Given the description of an element on the screen output the (x, y) to click on. 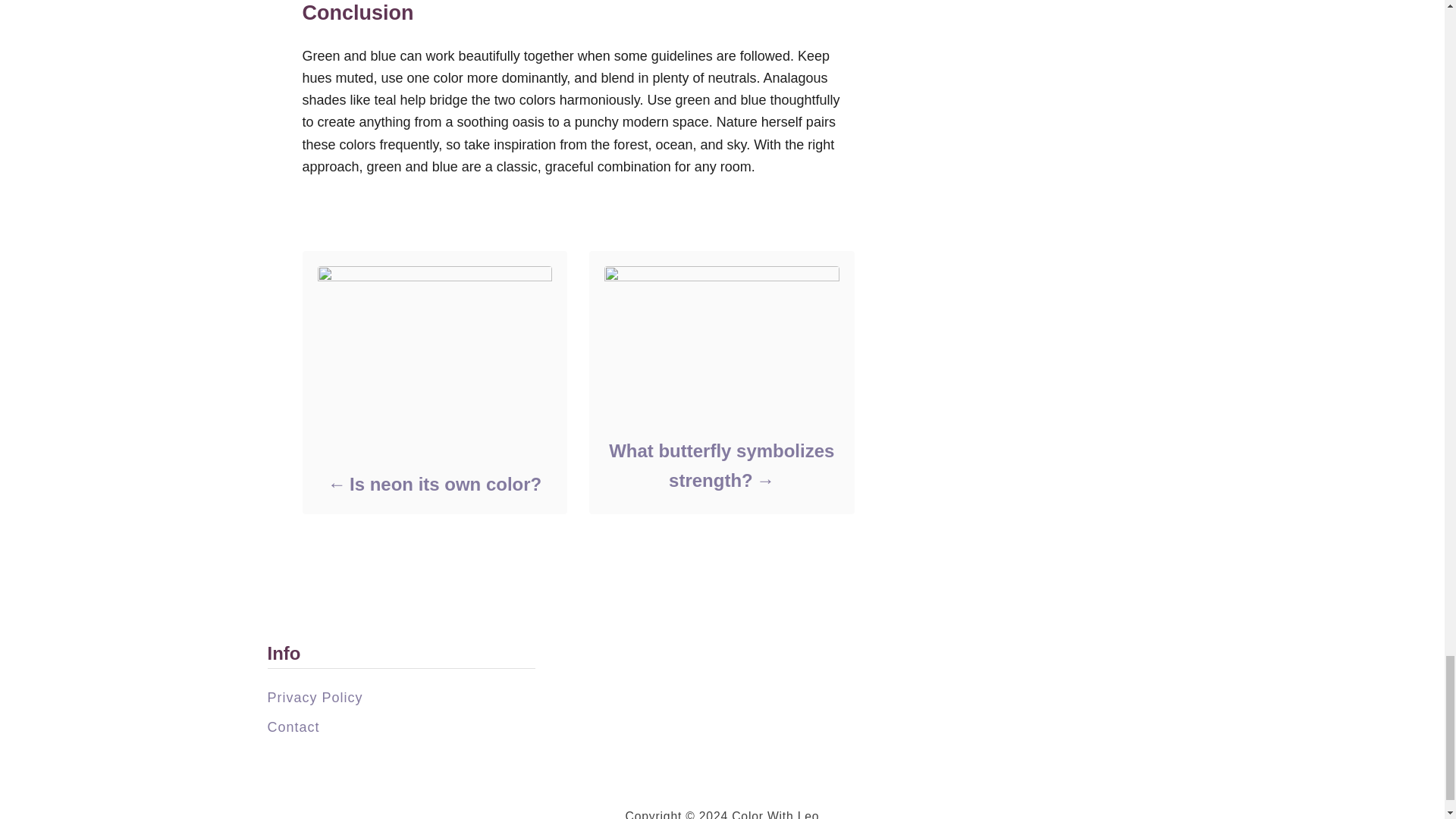
Is neon its own color? (434, 483)
What butterfly symbolizes strength? (721, 465)
Contact (292, 726)
Privacy Policy (314, 697)
